Given the description of an element on the screen output the (x, y) to click on. 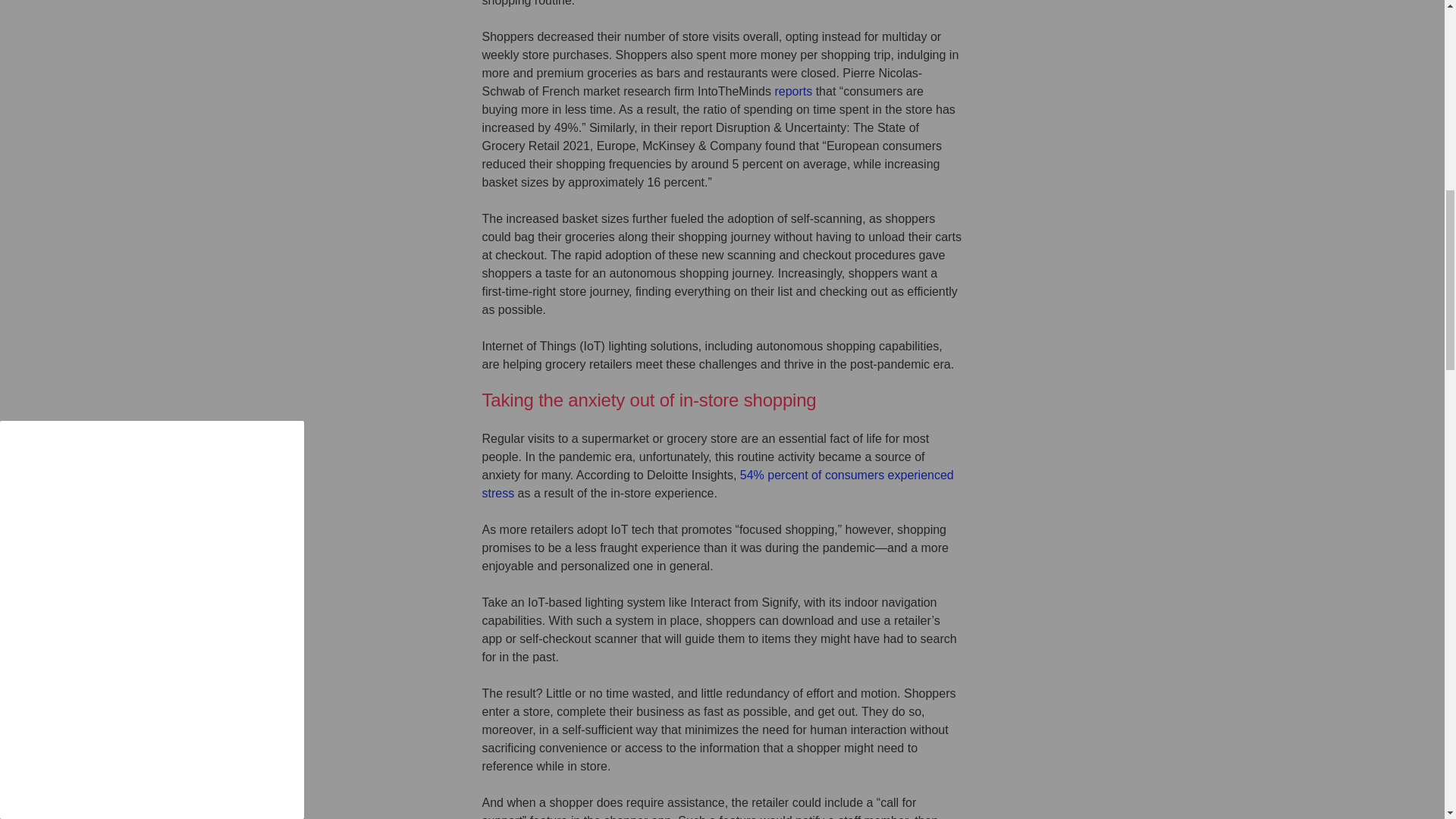
reports (793, 91)
